Given the description of an element on the screen output the (x, y) to click on. 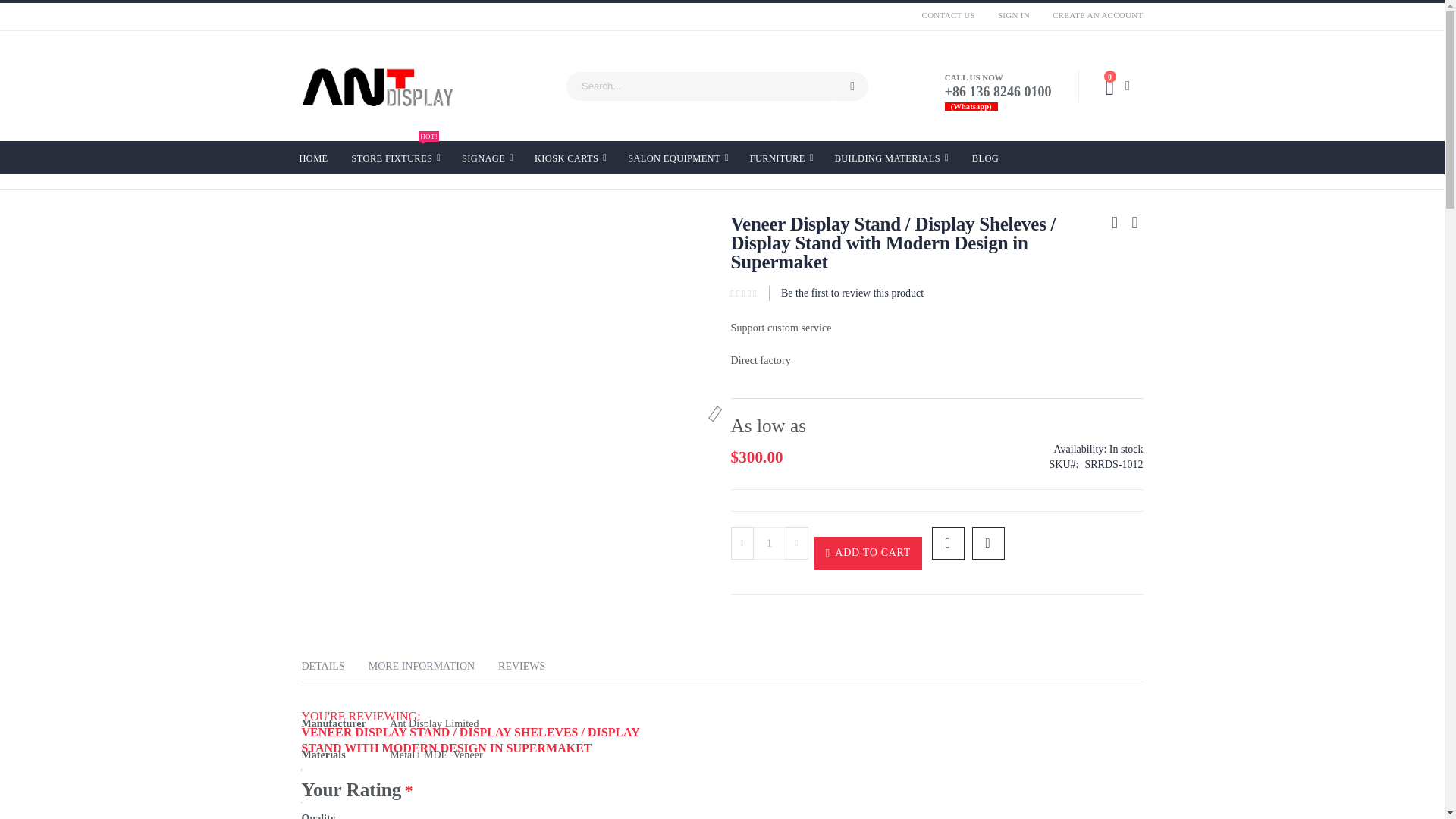
Store Fixtures (395, 157)
1 (769, 543)
Search (851, 86)
CREATE AN ACCOUNT (1091, 15)
Search (851, 86)
HOME (395, 157)
SIGN IN (312, 156)
CONTACT US (1014, 15)
